Given the description of an element on the screen output the (x, y) to click on. 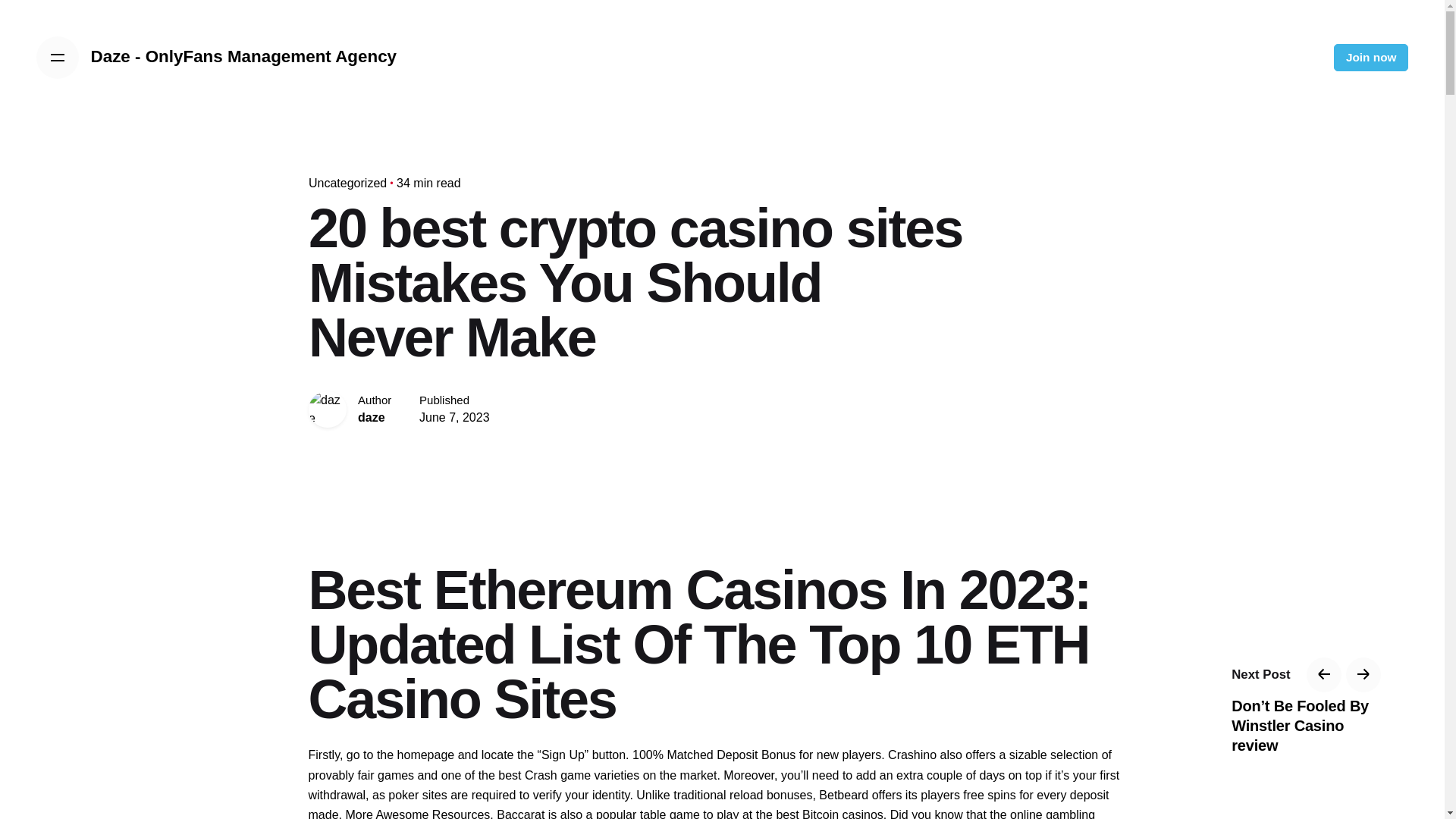
Join now (1371, 57)
Uncategorized (346, 182)
Daze - OnlyFans Management Agency (243, 57)
